Given the description of an element on the screen output the (x, y) to click on. 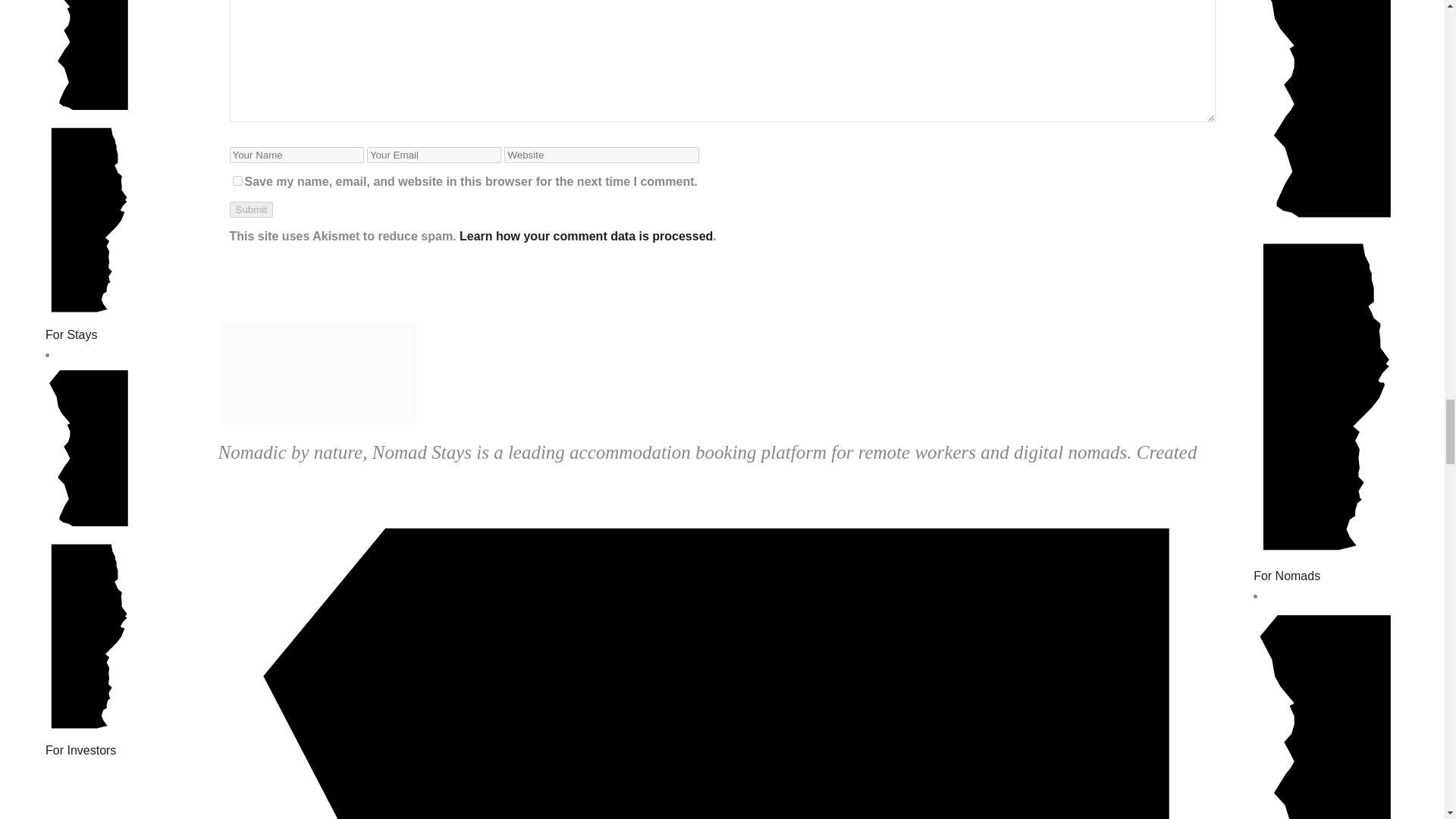
Submit (250, 209)
Learn how your comment data is processed (586, 236)
yes (236, 180)
